Given the description of an element on the screen output the (x, y) to click on. 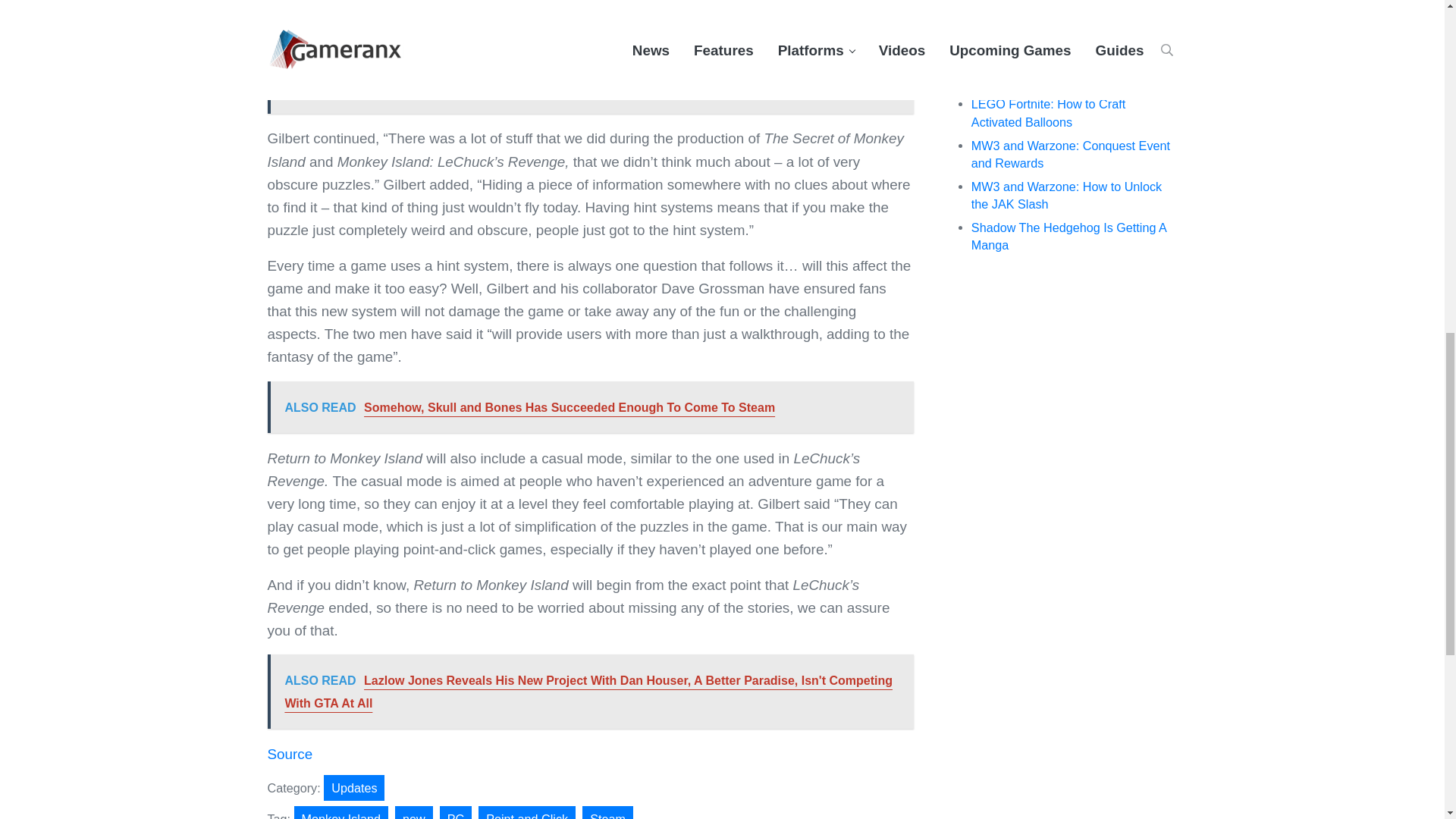
PC (455, 812)
Source (289, 754)
Monkey Island (341, 812)
Steam (607, 812)
Point and Click (527, 812)
new (413, 812)
Updates (353, 787)
